Given the description of an element on the screen output the (x, y) to click on. 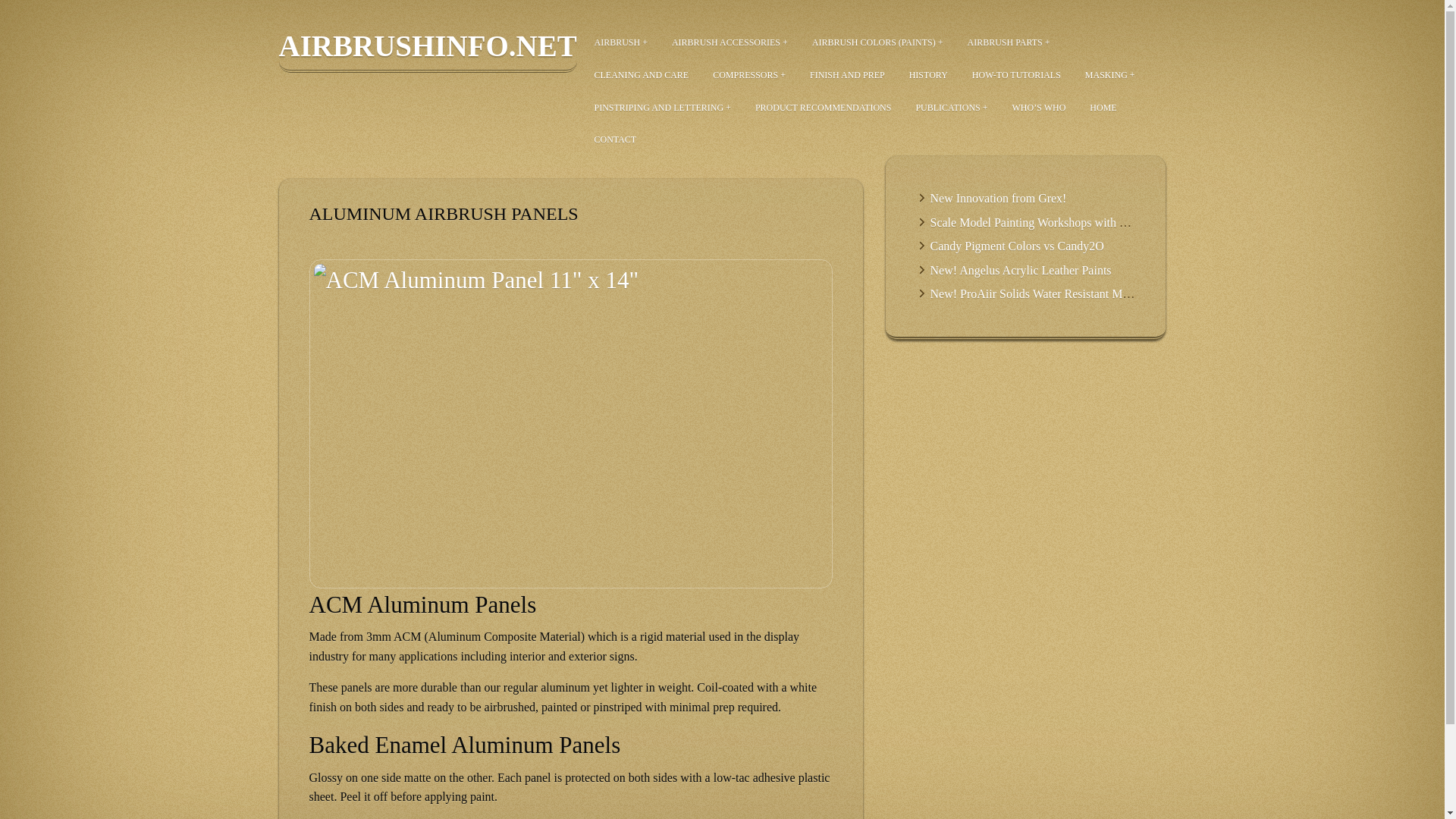
AIRBRUSH (619, 42)
AIRBRUSHINFO.NET (427, 50)
